Given the description of an element on the screen output the (x, y) to click on. 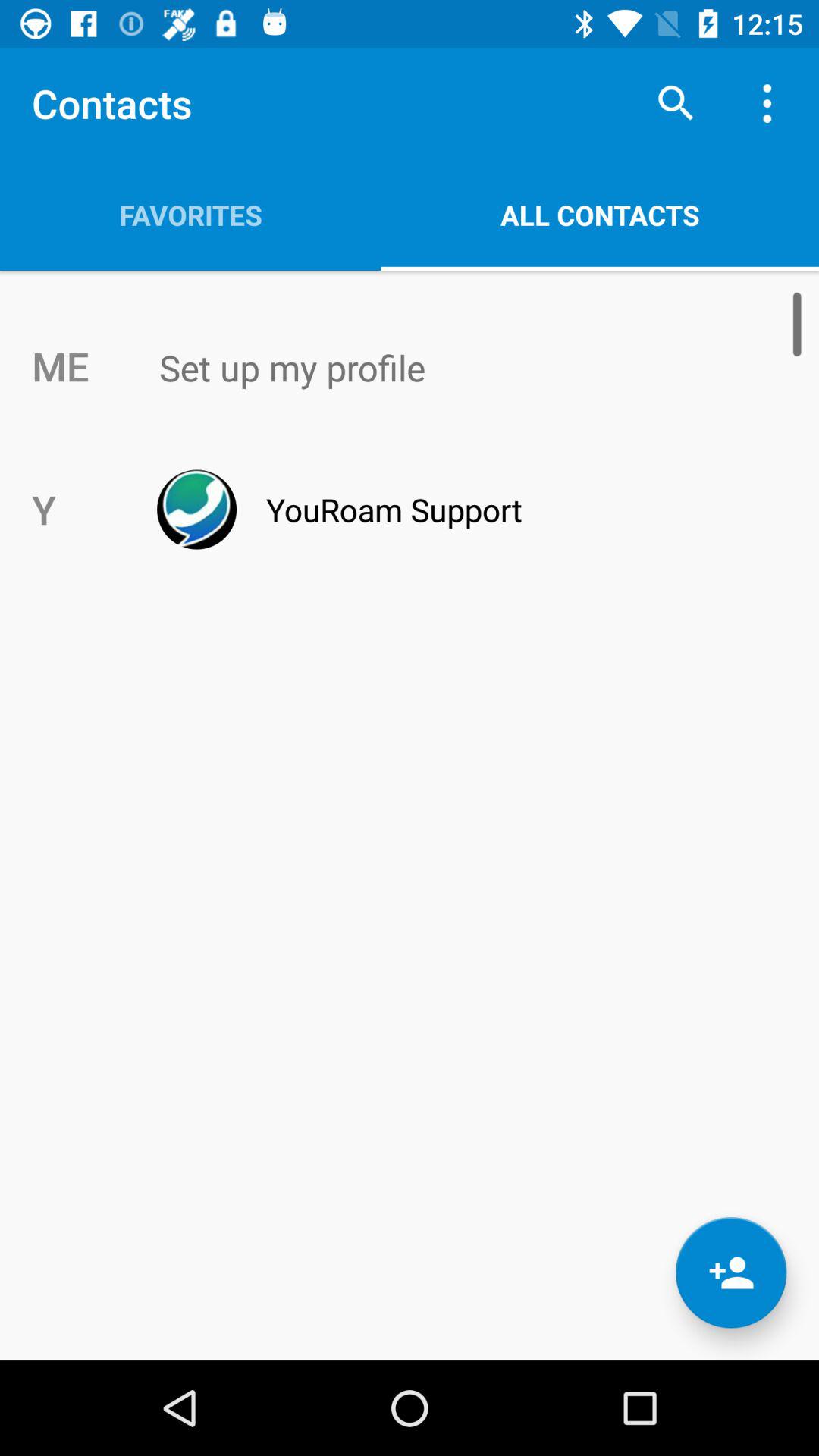
tap the app above all contacts app (675, 103)
